Given the description of an element on the screen output the (x, y) to click on. 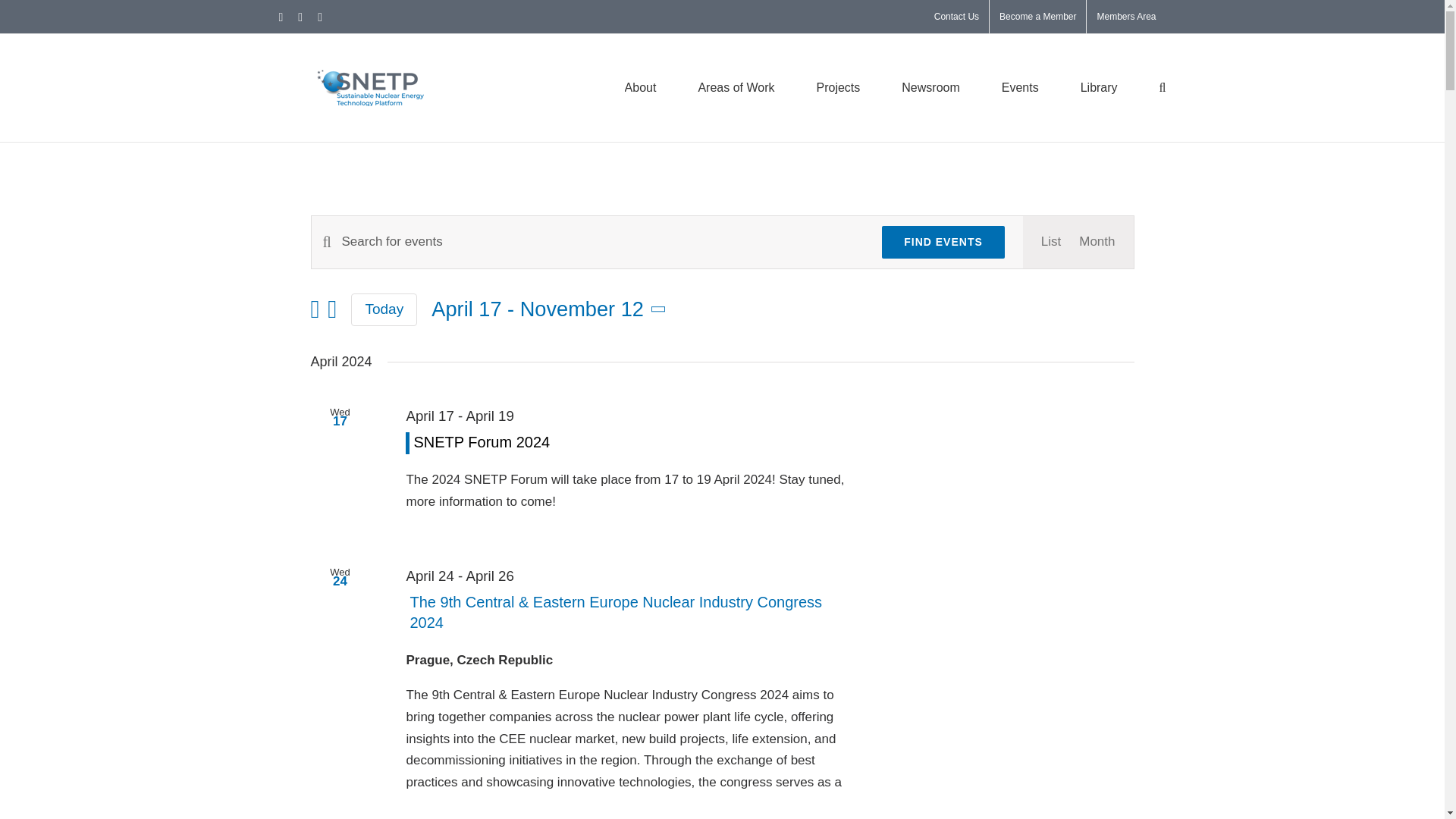
Click to toggle datepicker (550, 309)
Click to select today's date (383, 309)
Become a Member (1038, 16)
Members Area (1126, 16)
Contact Us (956, 16)
SNETP Forum 2024 (481, 442)
